Given the description of an element on the screen output the (x, y) to click on. 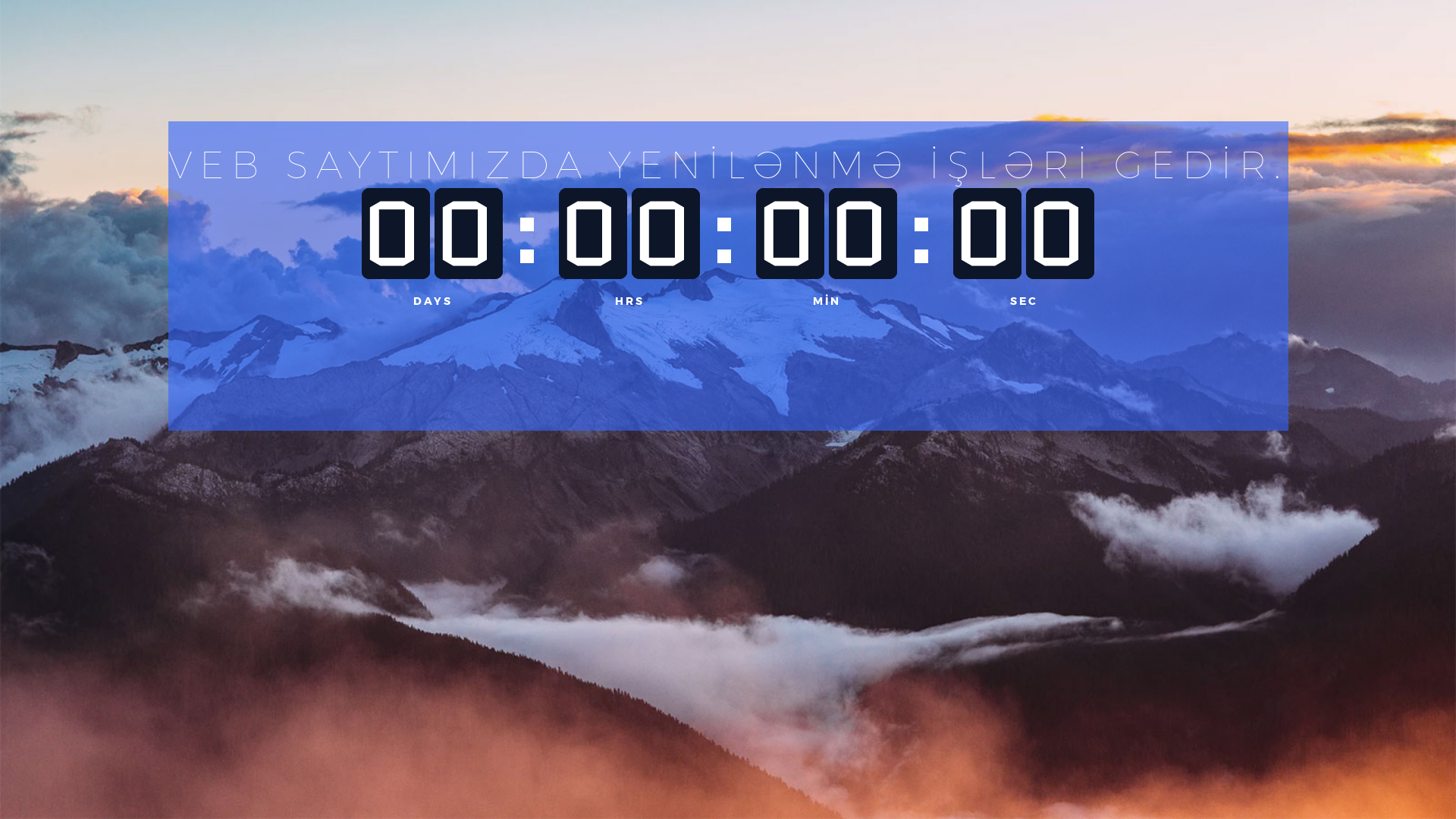
9
9 Element type: text (987, 233)
9
9 Element type: text (665, 233)
9
9 Element type: text (862, 233)
9
9 Element type: text (790, 233)
9
9 Element type: text (592, 233)
9
9 Element type: text (1060, 233)
9
9 Element type: text (395, 233)
9
9 Element type: text (468, 233)
